Given the description of an element on the screen output the (x, y) to click on. 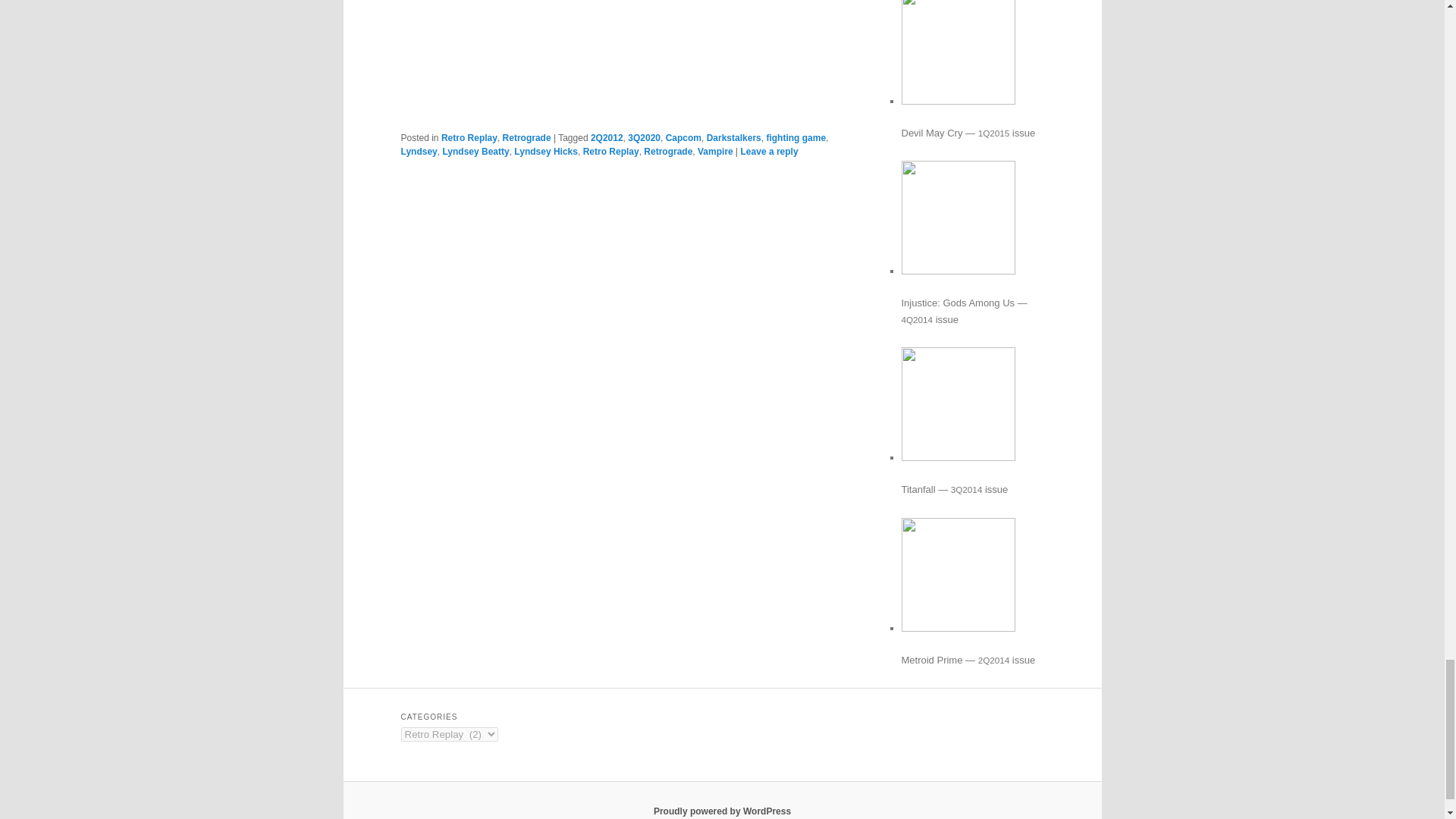
Vampire Darkstalkers Collection -- 3Q2012 issue (621, 53)
Lyndsey Beatty (475, 151)
2Q2012 (607, 137)
Retro Replay (469, 137)
Darkstalkers (733, 137)
Capcom (683, 137)
Lyndsey Hicks (545, 151)
Retro Replay (611, 151)
Lyndsey (418, 151)
Semantic Personal Publishing Platform (721, 810)
fighting game (795, 137)
3Q2020 (644, 137)
Retrograde (526, 137)
Retrograde (668, 151)
